Given the description of an element on the screen output the (x, y) to click on. 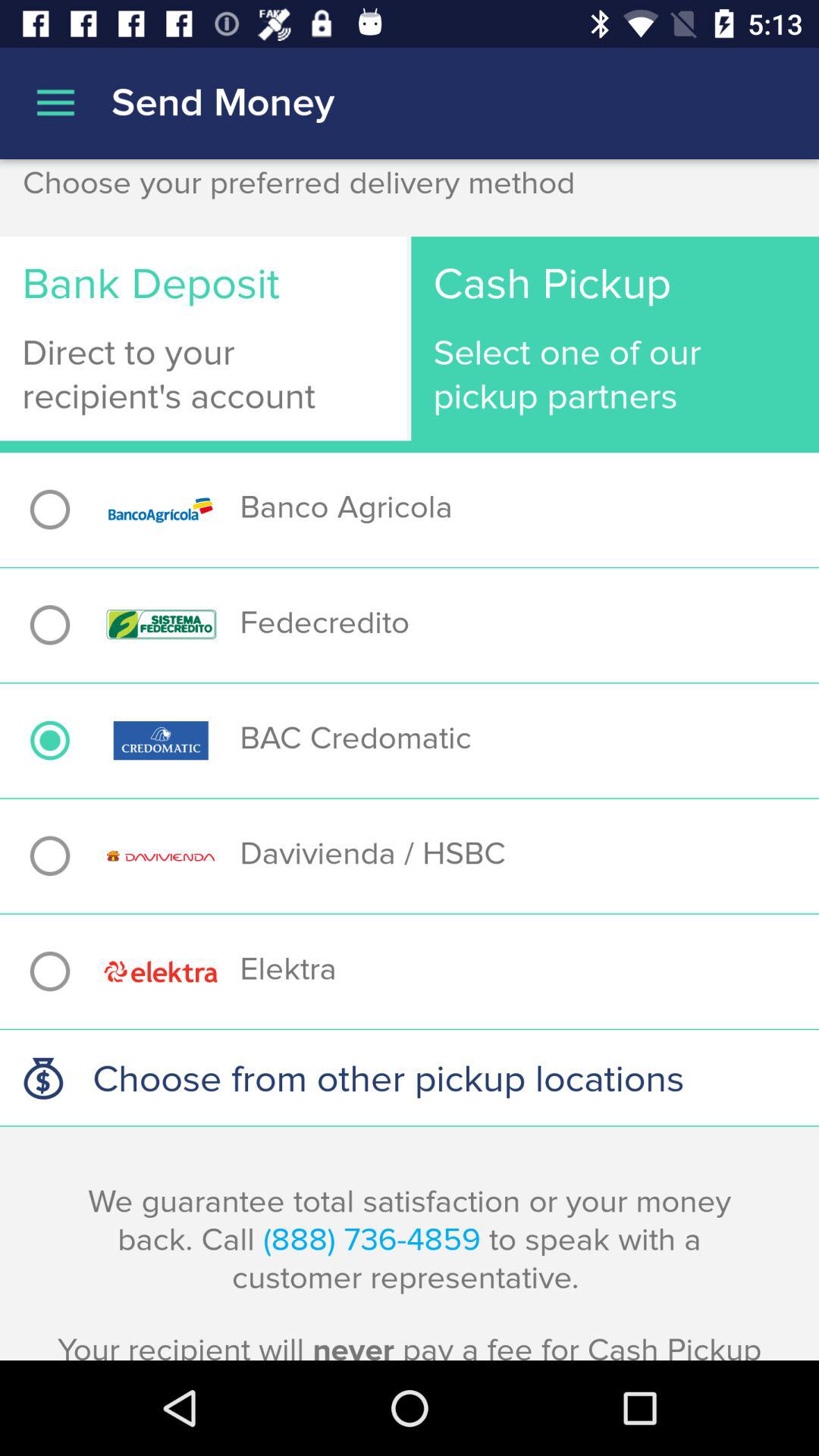
launch item above choose your preferred app (773, 161)
